Given the description of an element on the screen output the (x, y) to click on. 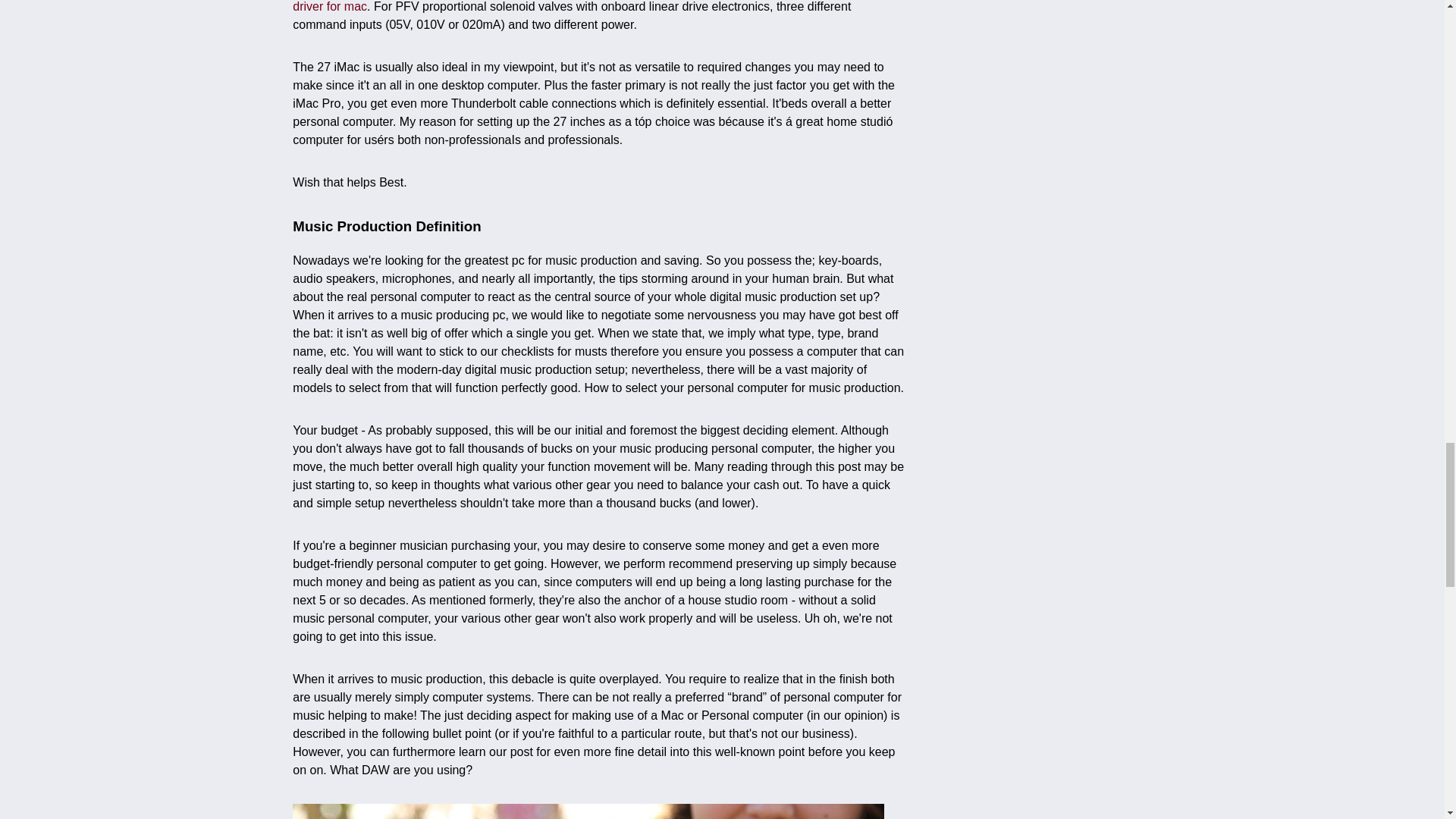
Proportional solenoid valve driver for mac (584, 6)
